Given the description of an element on the screen output the (x, y) to click on. 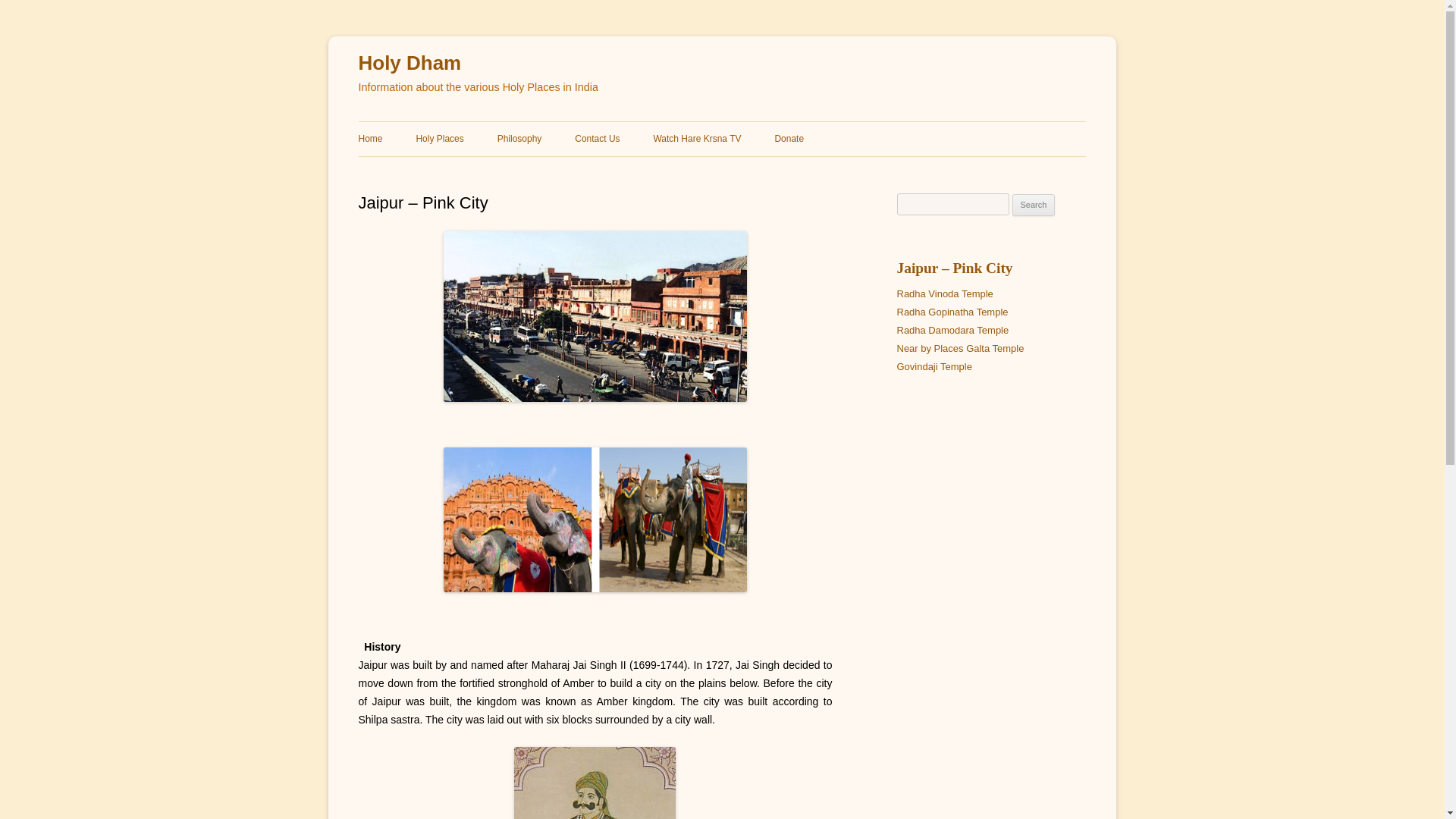
Holy Dham (409, 63)
Govindaji Temple (933, 366)
Radha Damodara Temple (952, 329)
Holy Places (438, 138)
Radha Vinoda Temple (944, 293)
Watch Hare Krsna TV (696, 138)
Radha Gopinatha Temple (951, 311)
Radha Gopinatha Temple (951, 311)
Radha Vinoda Temple (944, 293)
Holy Dham (409, 63)
Near by Places Galta Temple (959, 348)
Contact Us (597, 138)
Near by Places Galta Temple (959, 348)
Search (1033, 205)
